Given the description of an element on the screen output the (x, y) to click on. 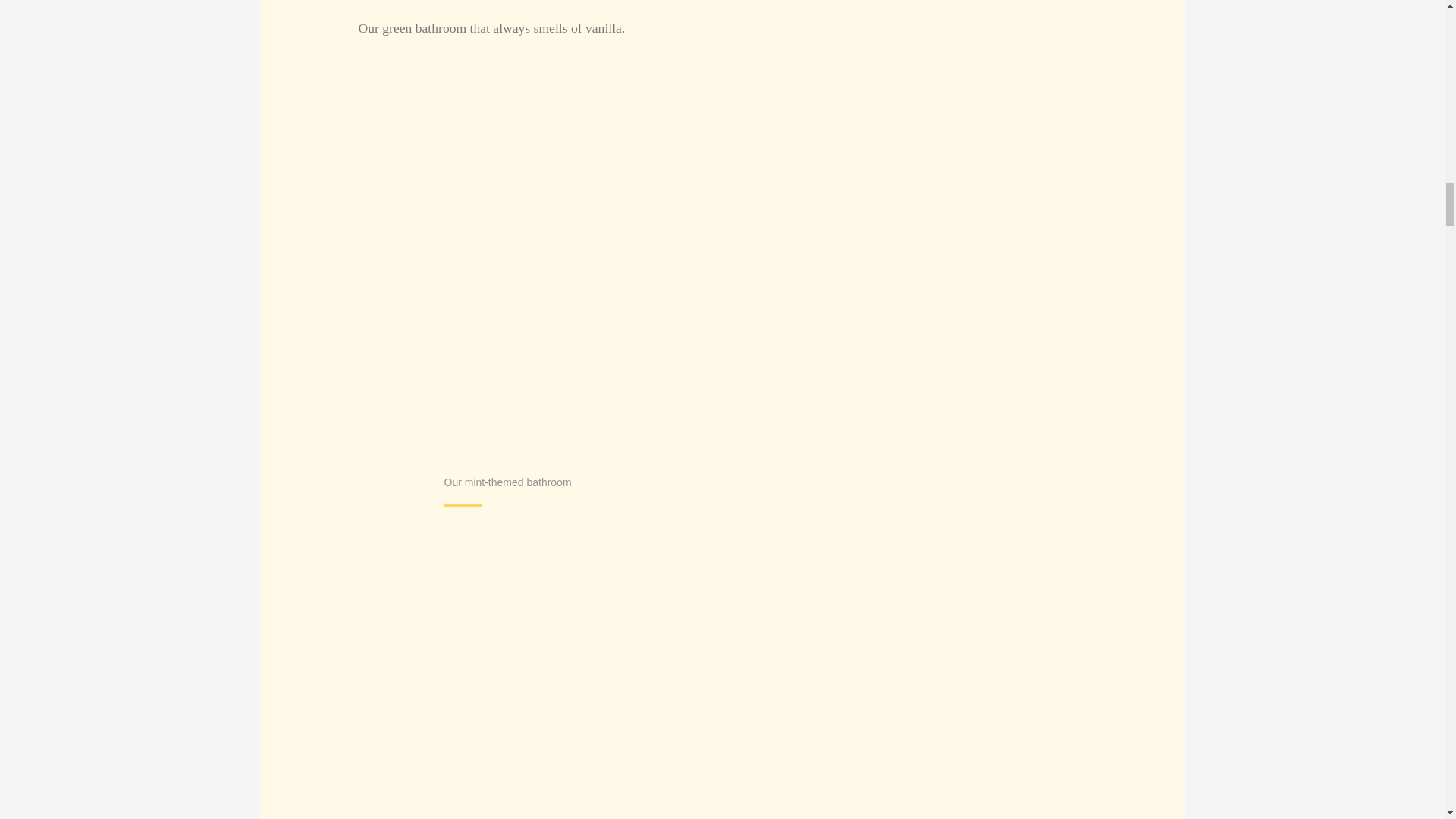
Knick knack shelf, Banos, Ecuador (589, 678)
